Given the description of an element on the screen output the (x, y) to click on. 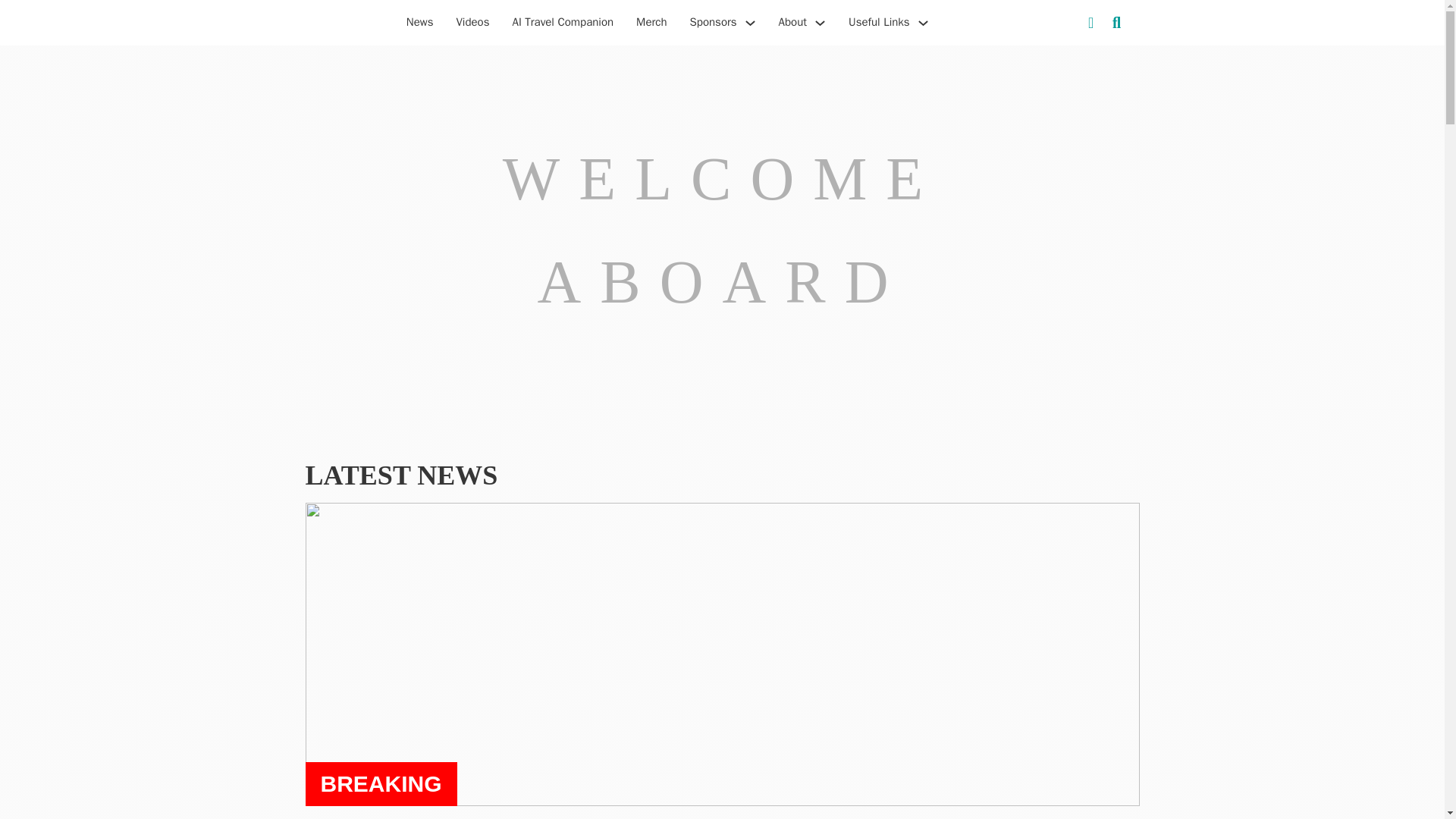
AI Travel Companion (563, 22)
About (792, 22)
News (419, 22)
Useful Links (879, 22)
Sponsors (713, 22)
Videos (472, 22)
Merch (651, 22)
